Given the description of an element on the screen output the (x, y) to click on. 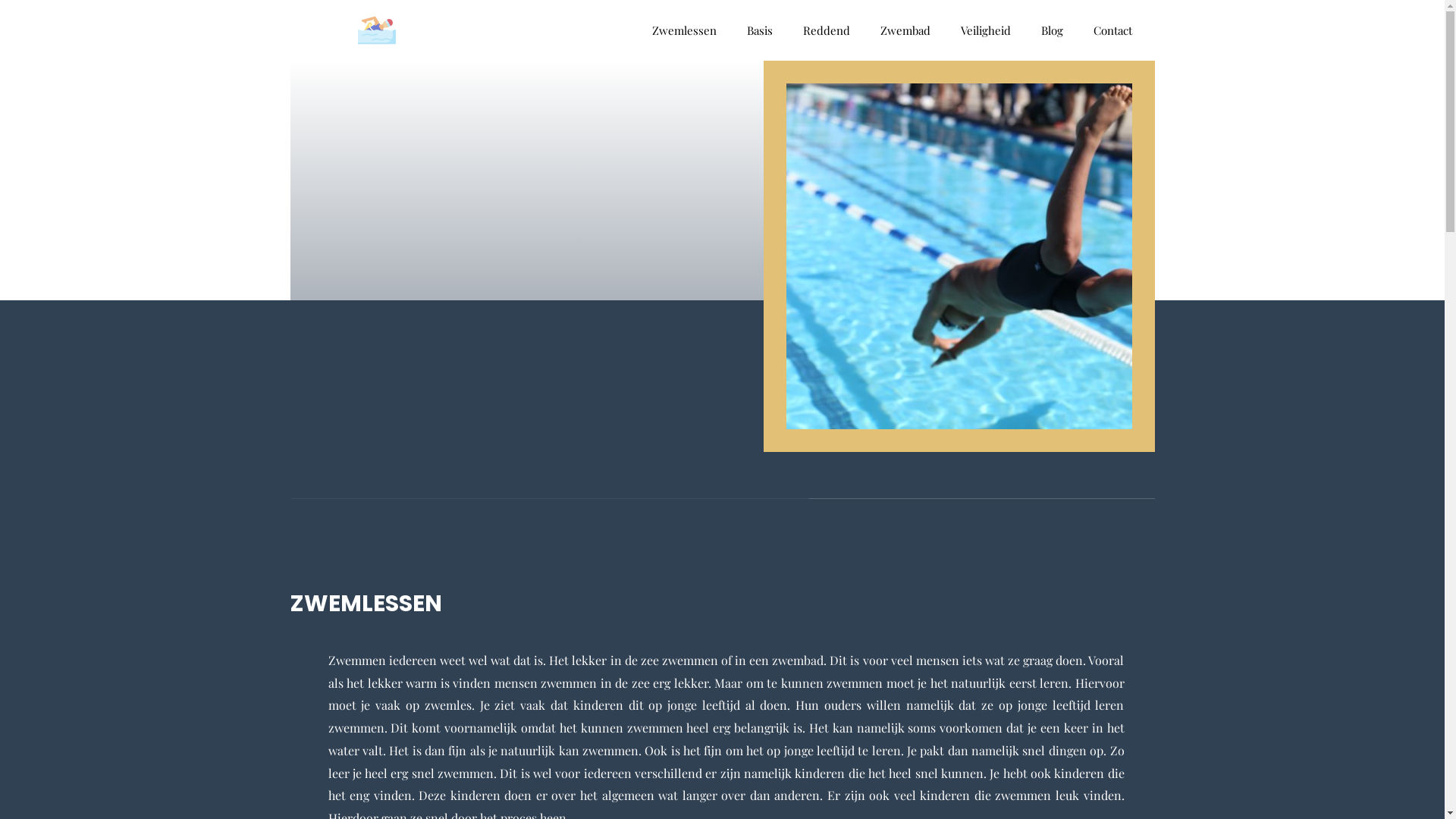
Basis Element type: text (759, 29)
Veiligheid Element type: text (984, 29)
Contact Element type: text (1112, 29)
Zwemlessen Element type: text (684, 29)
Reddend Element type: text (825, 29)
Blog Element type: text (1051, 29)
brian-matangelo-gRof2_Ftu7A-unsplash (1) Element type: hover (958, 256)
Zwembad Element type: text (904, 29)
rescue Element type: hover (376, 30)
